Given the description of an element on the screen output the (x, y) to click on. 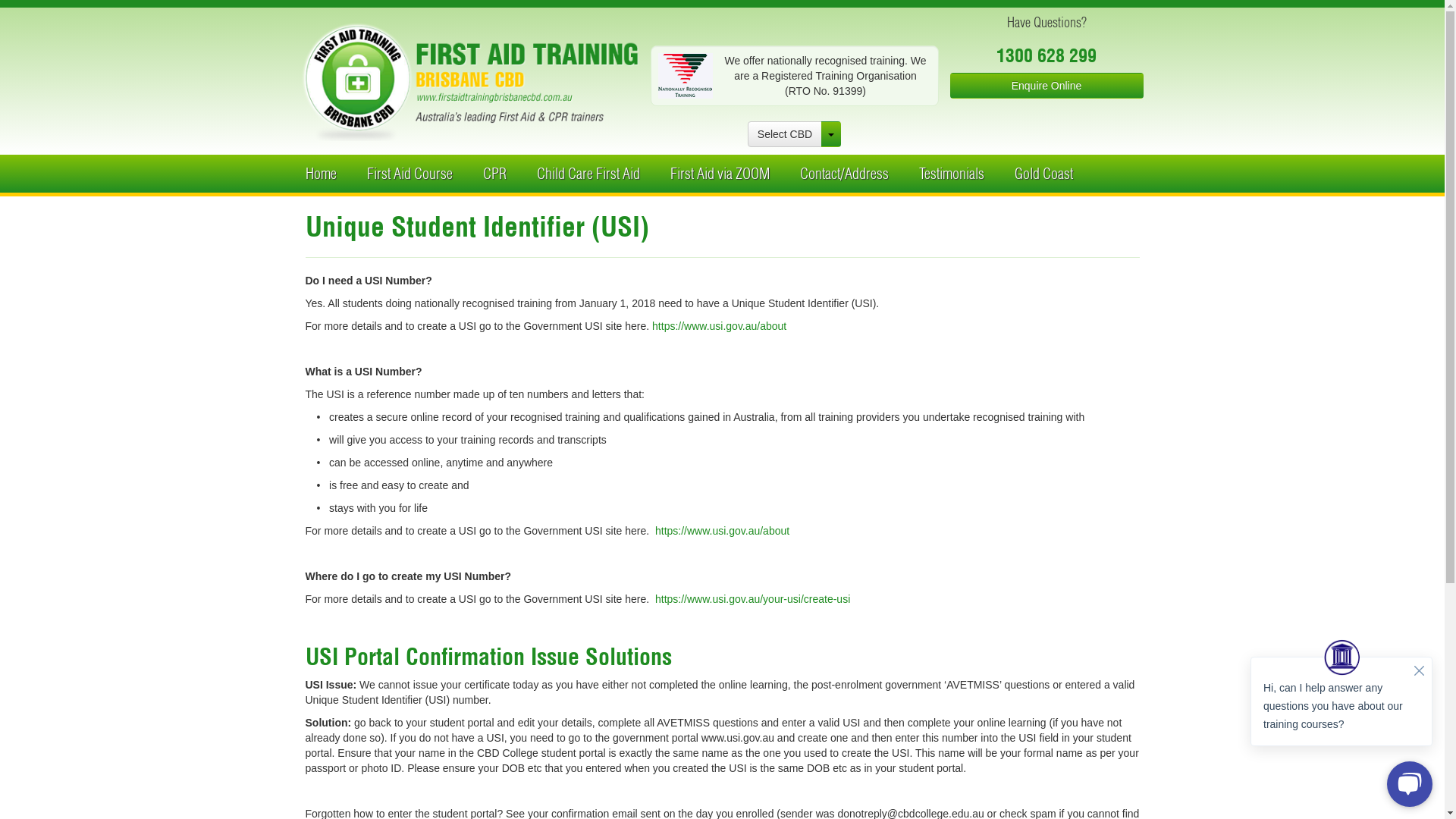
Nationally Recognized Training Element type: hover (685, 75)
First Aid Course Element type: text (409, 173)
Testimonials Element type: text (951, 173)
https://www.usi.gov.au/your-usi/create-usi Element type: text (752, 599)
Enquire Online Element type: text (1045, 85)
  Element type: text (830, 134)
First AID CBD College Australia Element type: hover (470, 81)
Gold Coast Element type: text (1043, 173)
1300 628 299 Element type: text (1046, 54)
https://www.usi.gov.au/about Element type: text (719, 326)
https://www.usi.gov.au/about Element type: text (722, 530)
CPR Element type: text (493, 173)
First Aid via ZOOM Element type: text (719, 173)
Home Element type: text (320, 173)
Select CBD Element type: text (784, 134)
Child Care First Aid Element type: text (588, 173)
Contact/Address Element type: text (843, 173)
